Given the description of an element on the screen output the (x, y) to click on. 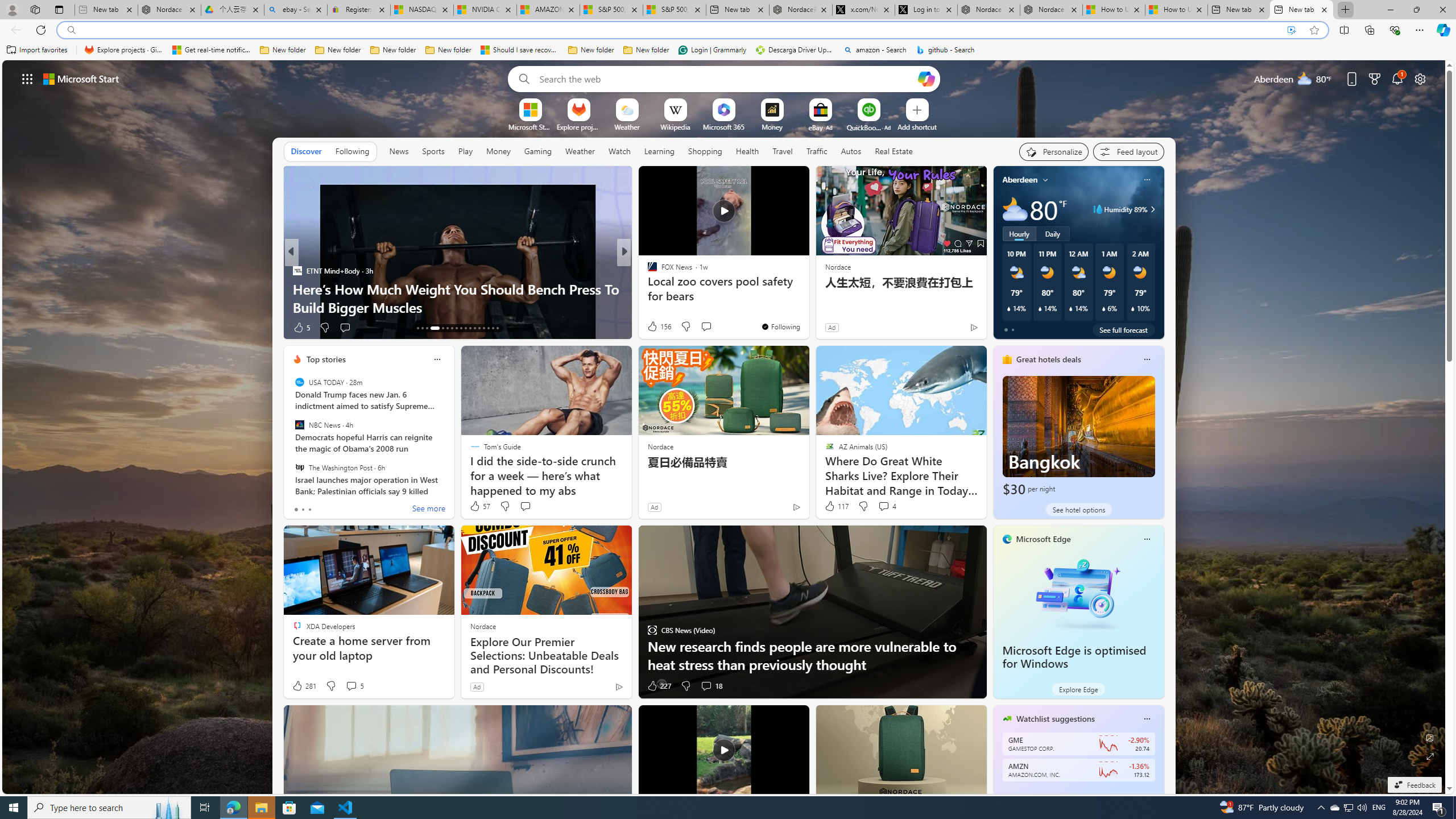
To live long and strong in retirement, lift heavy weights (807, 298)
Play (465, 151)
Descarga Driver Updater (794, 49)
Animals Around The Globe (US) (647, 288)
Explore Edge (1078, 689)
What is the Difference between Bison vs. Buffalo (807, 307)
Like (648, 327)
Dailymotion (647, 288)
AutomationID: tab-18 (446, 328)
x.com/NordaceOfficial (863, 9)
View comments 18 Comment (705, 685)
Enter your search term (726, 78)
CNBC (647, 270)
